Given the description of an element on the screen output the (x, y) to click on. 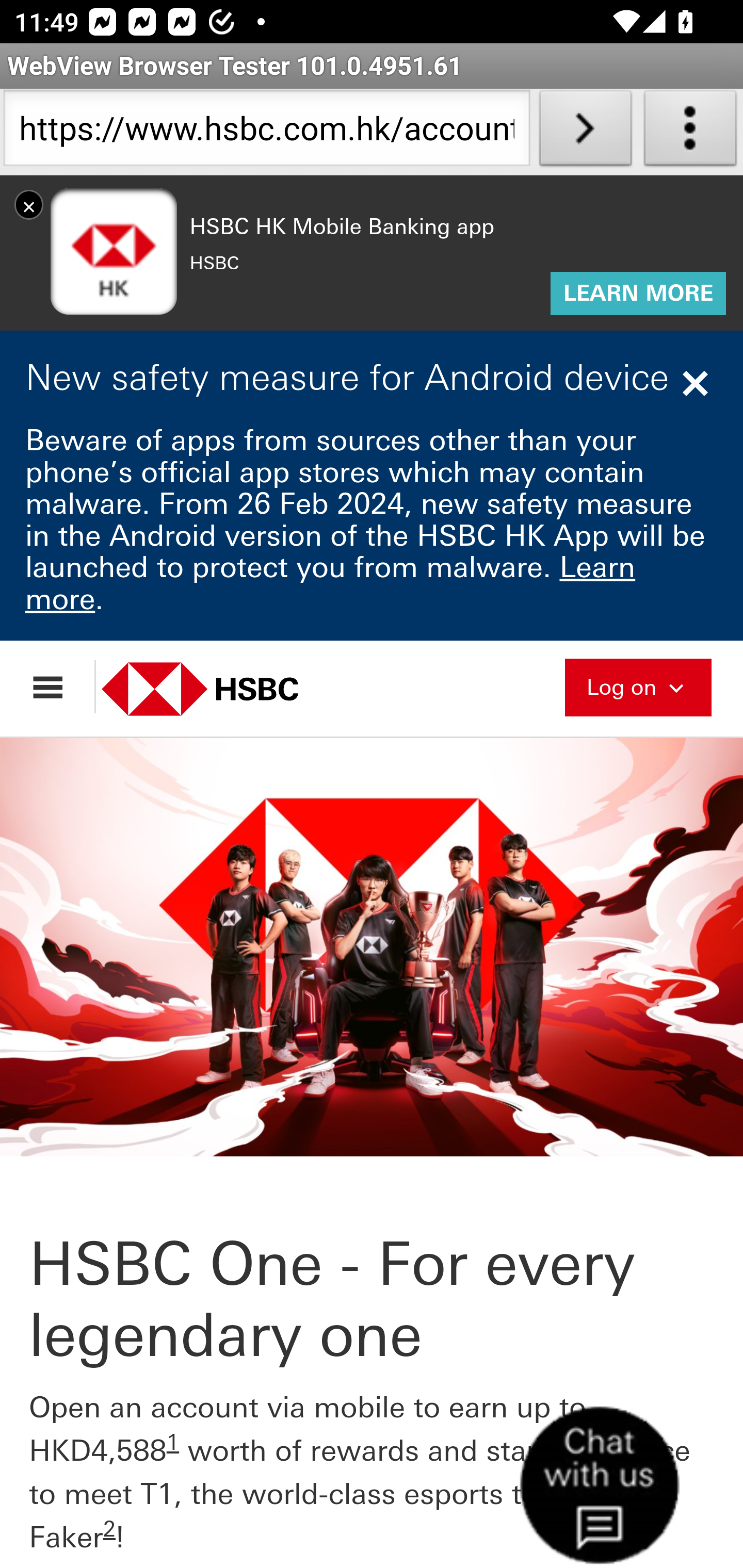
Load URL (585, 132)
About WebView (690, 132)
X (29, 204)
LEARN MORE (638, 293)
Close (697, 382)
Learn more (331, 582)
Log on Collapsed (638, 685)
Open menu (57, 686)
HSBC Hong Kong Bank (221, 688)
Footnote link 1 (173, 1442)
Footnote link 2 (109, 1529)
